Given the description of an element on the screen output the (x, y) to click on. 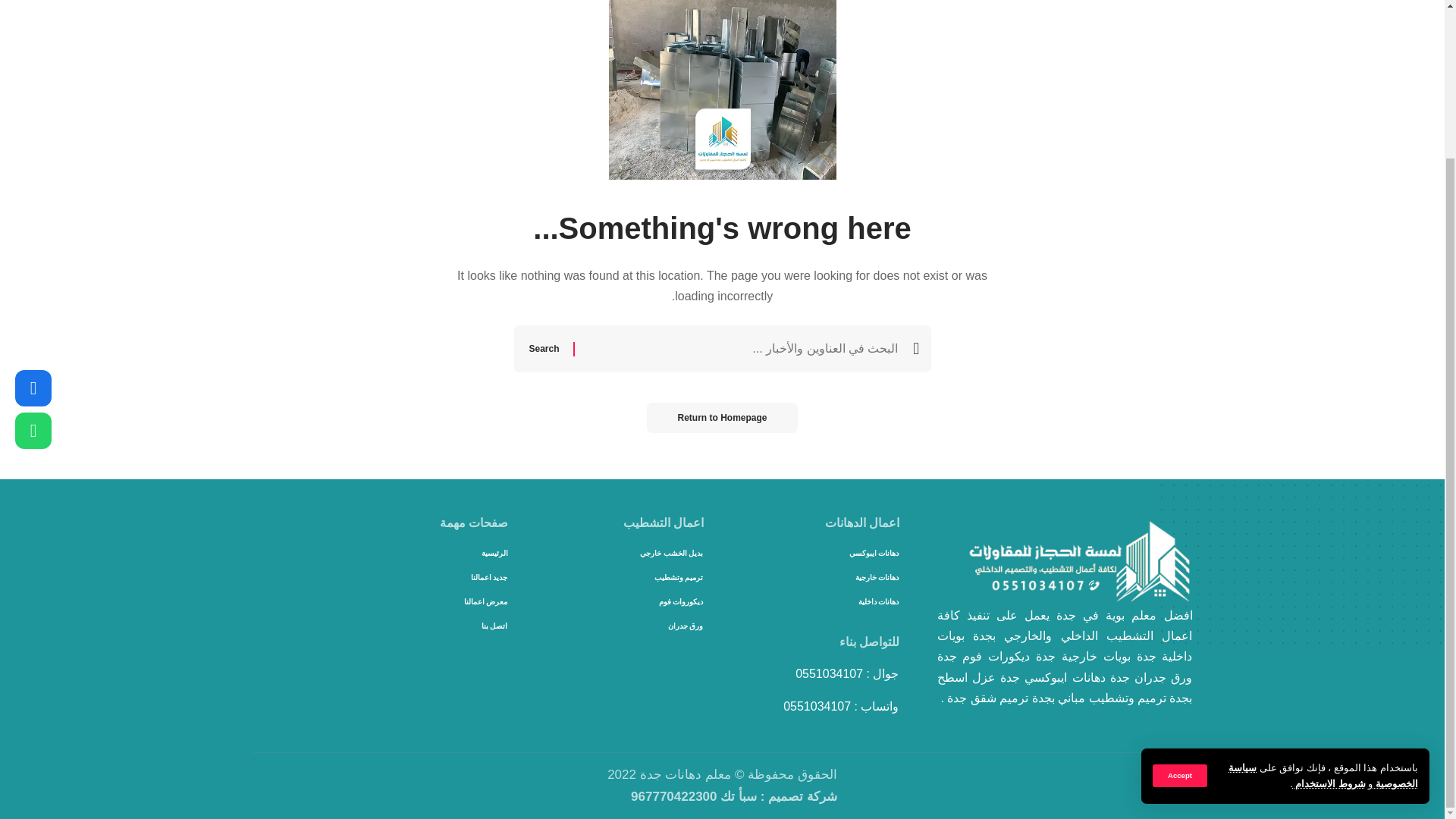
Search (544, 348)
Phone (32, 203)
967770422300 (673, 796)
Return to Homepage (721, 417)
Search (544, 348)
Accept (1180, 590)
Search (544, 348)
WhatsApp (32, 245)
